Given the description of an element on the screen output the (x, y) to click on. 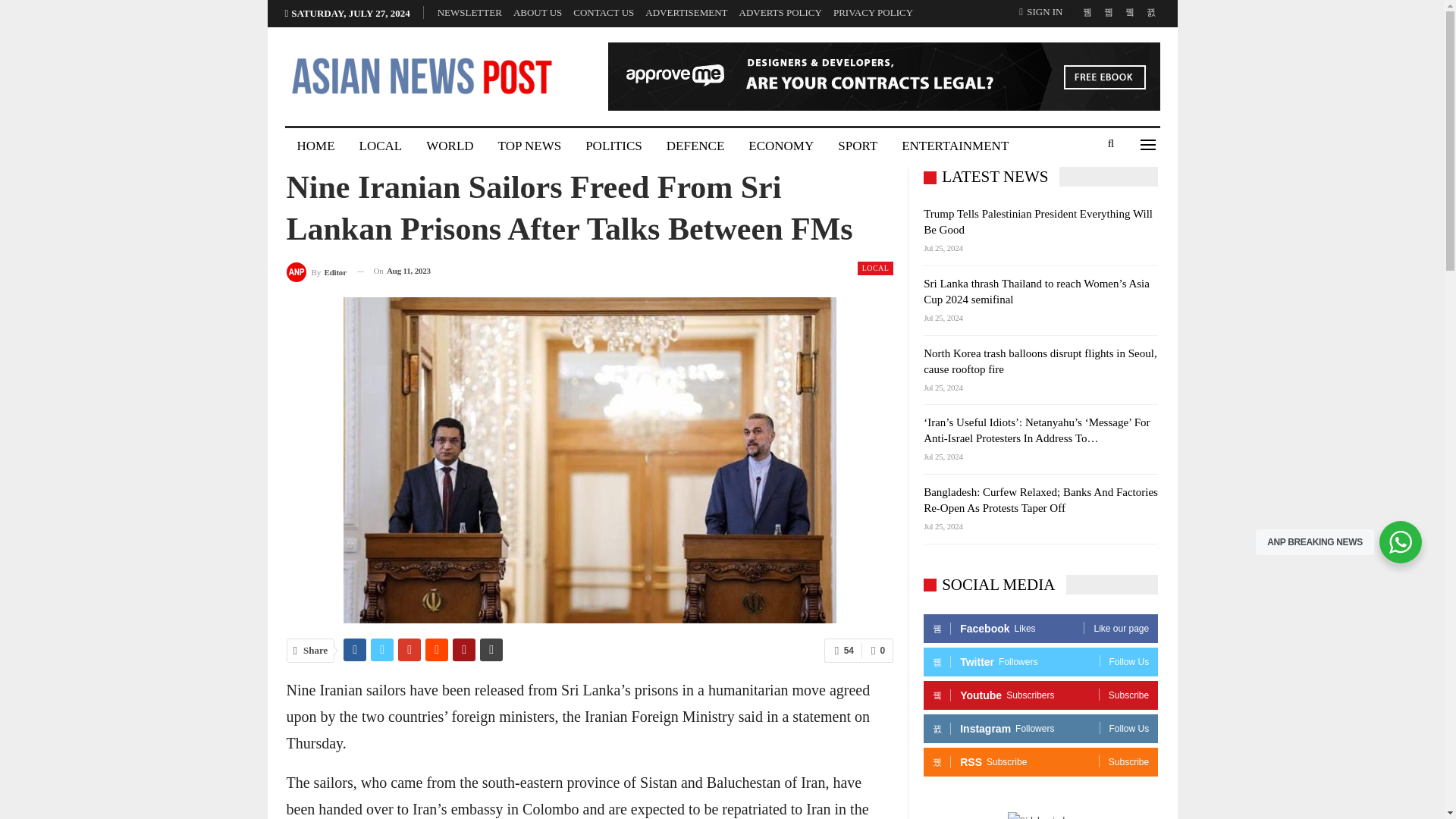
ADVERTISEMENT (685, 12)
Browse Author Articles (316, 271)
ABOUT US (537, 12)
TOP NEWS (529, 145)
WORLD (448, 145)
ADVERTS POLICY (780, 12)
ECONOMY (780, 145)
SIGN IN (1043, 12)
CONTACT US (603, 12)
SPORT (857, 145)
PRIVACY POLICY (872, 12)
HOME (316, 145)
NEWSLETTER (470, 12)
LOCAL (380, 145)
POLITICS (613, 145)
